Given the description of an element on the screen output the (x, y) to click on. 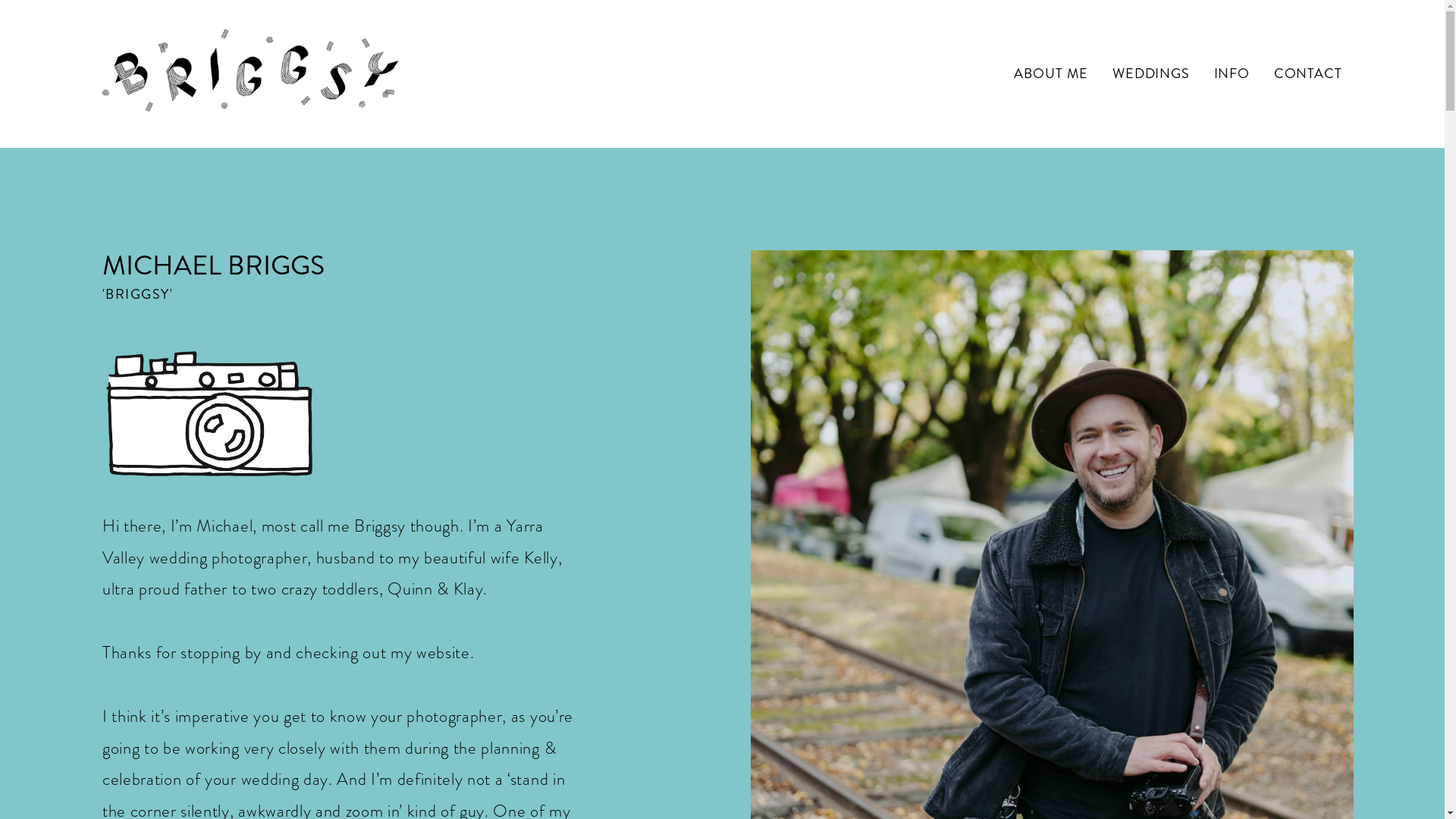
CONTACT Element type: text (1308, 74)
ABOUT ME Element type: text (1050, 74)
WEDDINGS Element type: text (1150, 74)
Yarra Valley wedding photographer Element type: text (322, 541)
INFO Element type: text (1232, 74)
